Given the description of an element on the screen output the (x, y) to click on. 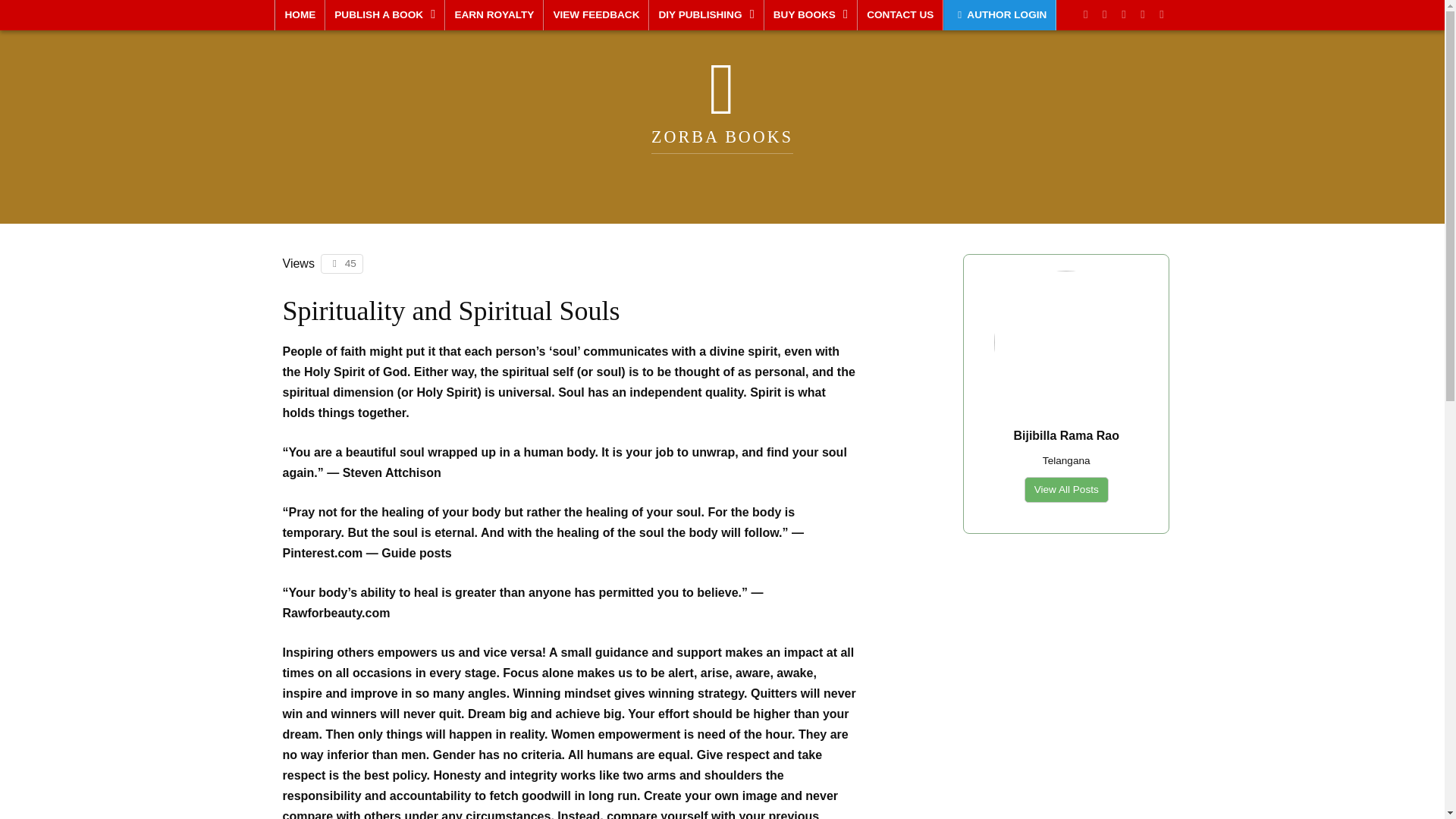
View All Posts (1066, 489)
BUY BOOKS (810, 15)
Home (299, 15)
Publishing (384, 15)
PUBLISH A BOOK (384, 15)
VIEW FEEDBACK (596, 15)
Feedback (596, 15)
DIY PUBLISHING (705, 15)
EARN ROYALTY (494, 15)
Royalty (494, 15)
